Given the description of an element on the screen output the (x, y) to click on. 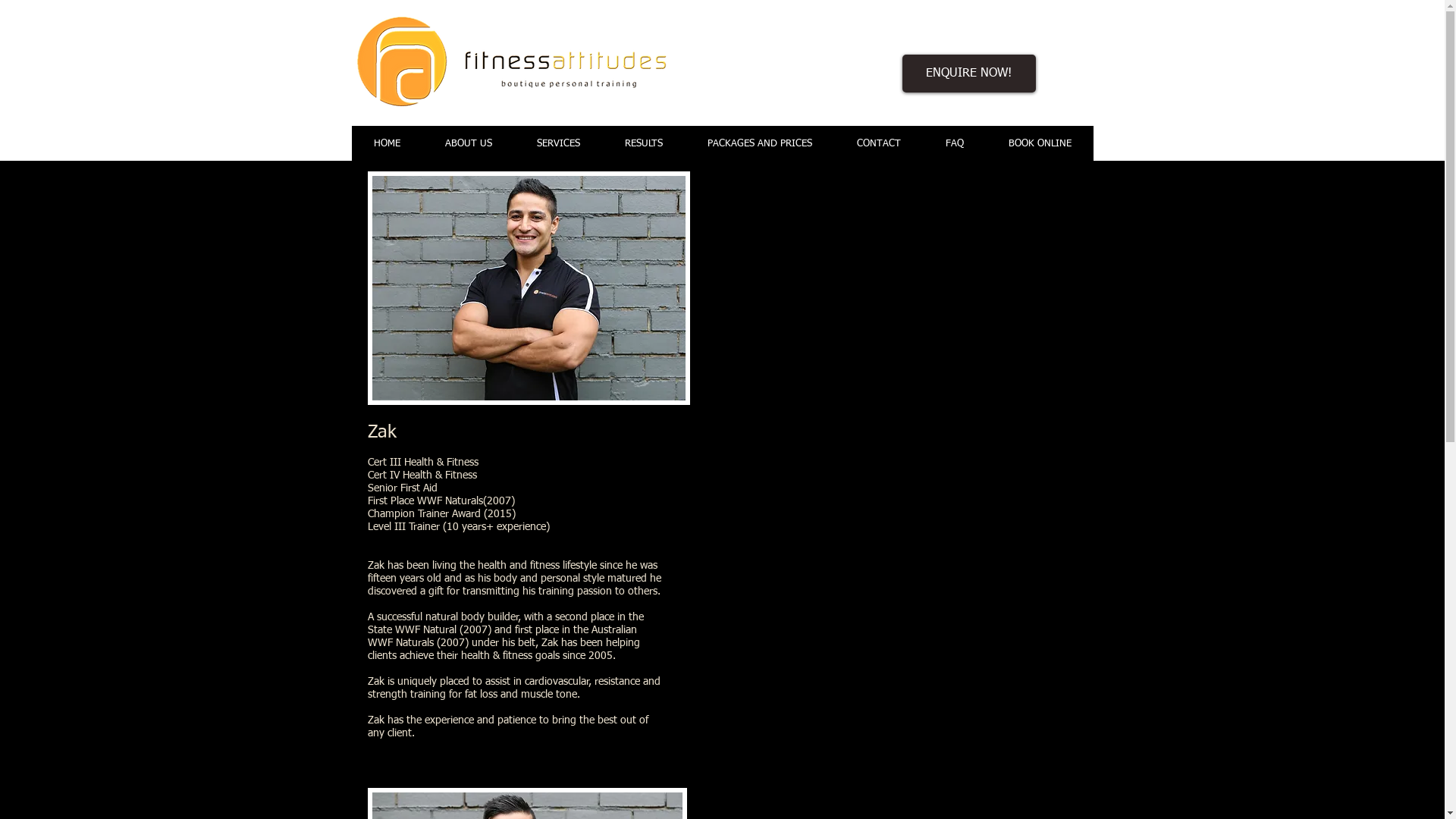
HOME Element type: text (386, 143)
FAQ Element type: text (953, 143)
FitnessAttitudes-Personal Training Element type: hover (510, 61)
BOOK ONLINE Element type: text (1039, 143)
SERVICES Element type: text (558, 143)
PACKAGES AND PRICES Element type: text (758, 143)
ABOUT US Element type: text (467, 143)
ENQUIRE NOW! Element type: text (968, 73)
CONTACT Element type: text (878, 143)
RESULTS Element type: text (643, 143)
